Given the description of an element on the screen output the (x, y) to click on. 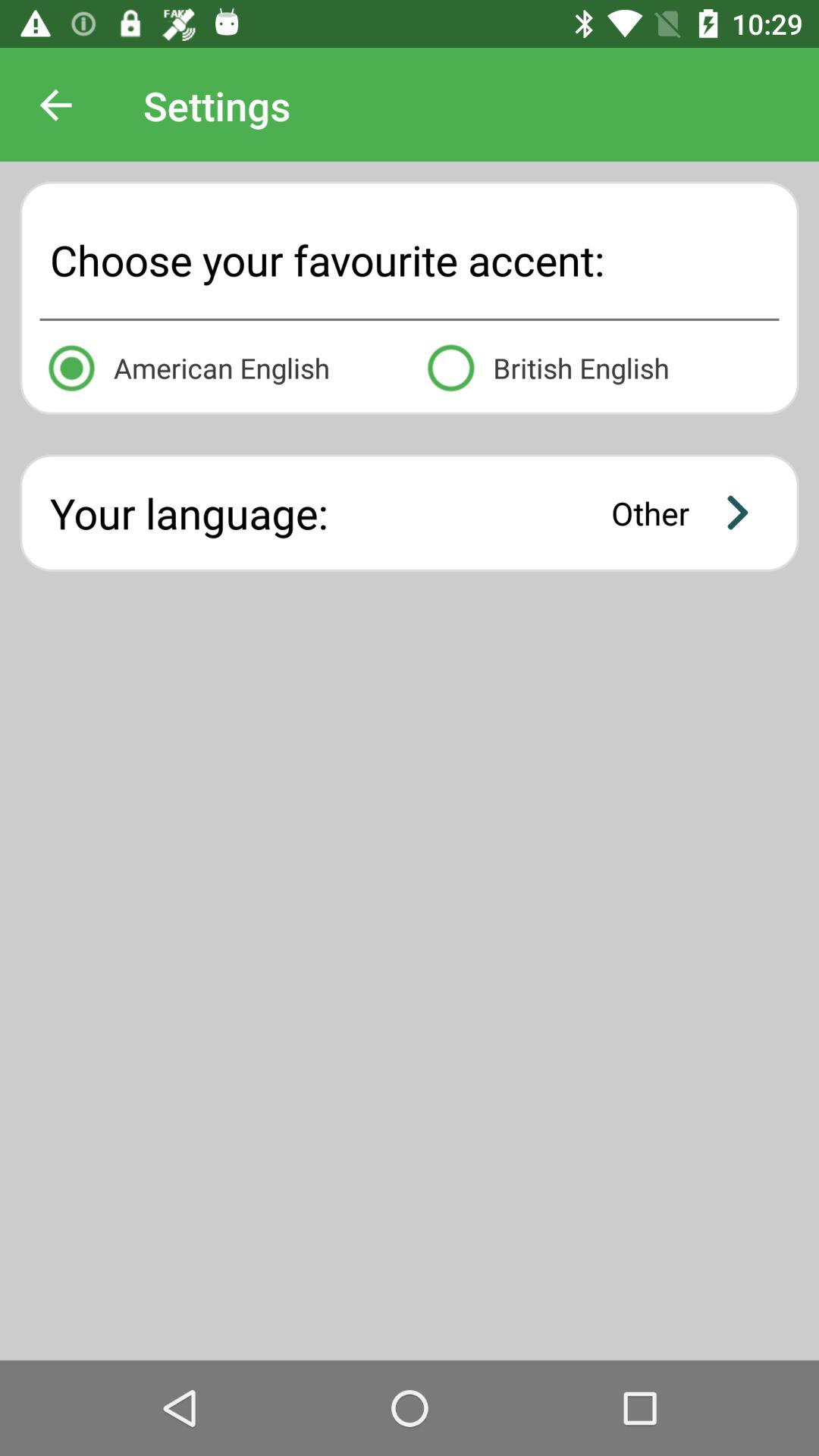
select icon next to the settings (55, 105)
